Given the description of an element on the screen output the (x, y) to click on. 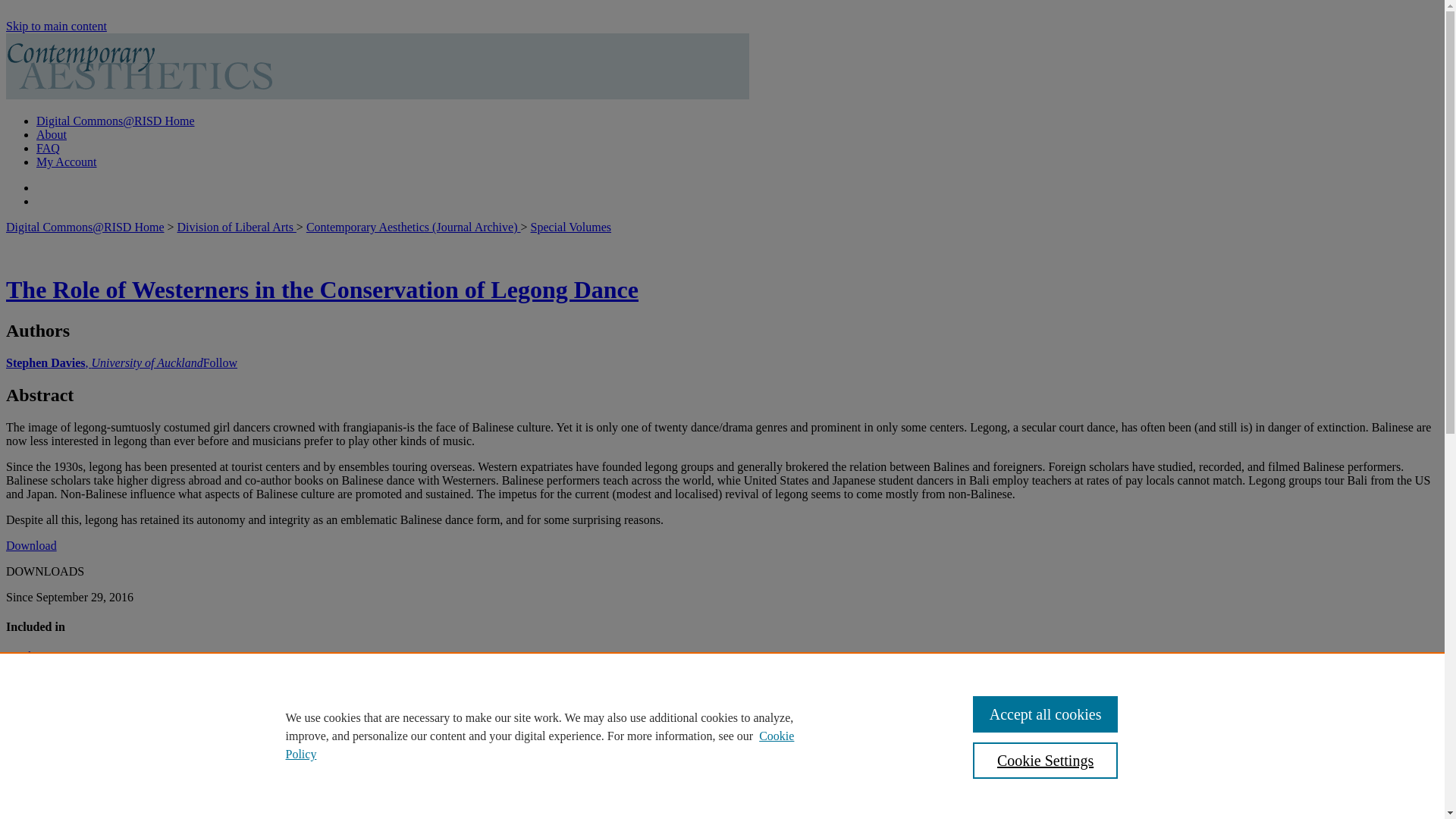
LinkedIn (37, 723)
Aesthetics Commons (57, 656)
Special Volumes (571, 226)
My Account (66, 161)
Follow Stephen Davies (220, 362)
Skip to main content (55, 25)
Follow (220, 362)
About (51, 133)
Facebook (16, 723)
About (51, 133)
Share (101, 723)
WhatsApp (58, 723)
My Account (66, 161)
Division of Liberal Arts (237, 226)
The Role of Westerners in the Conservation of Legong Dance (322, 289)
